Given the description of an element on the screen output the (x, y) to click on. 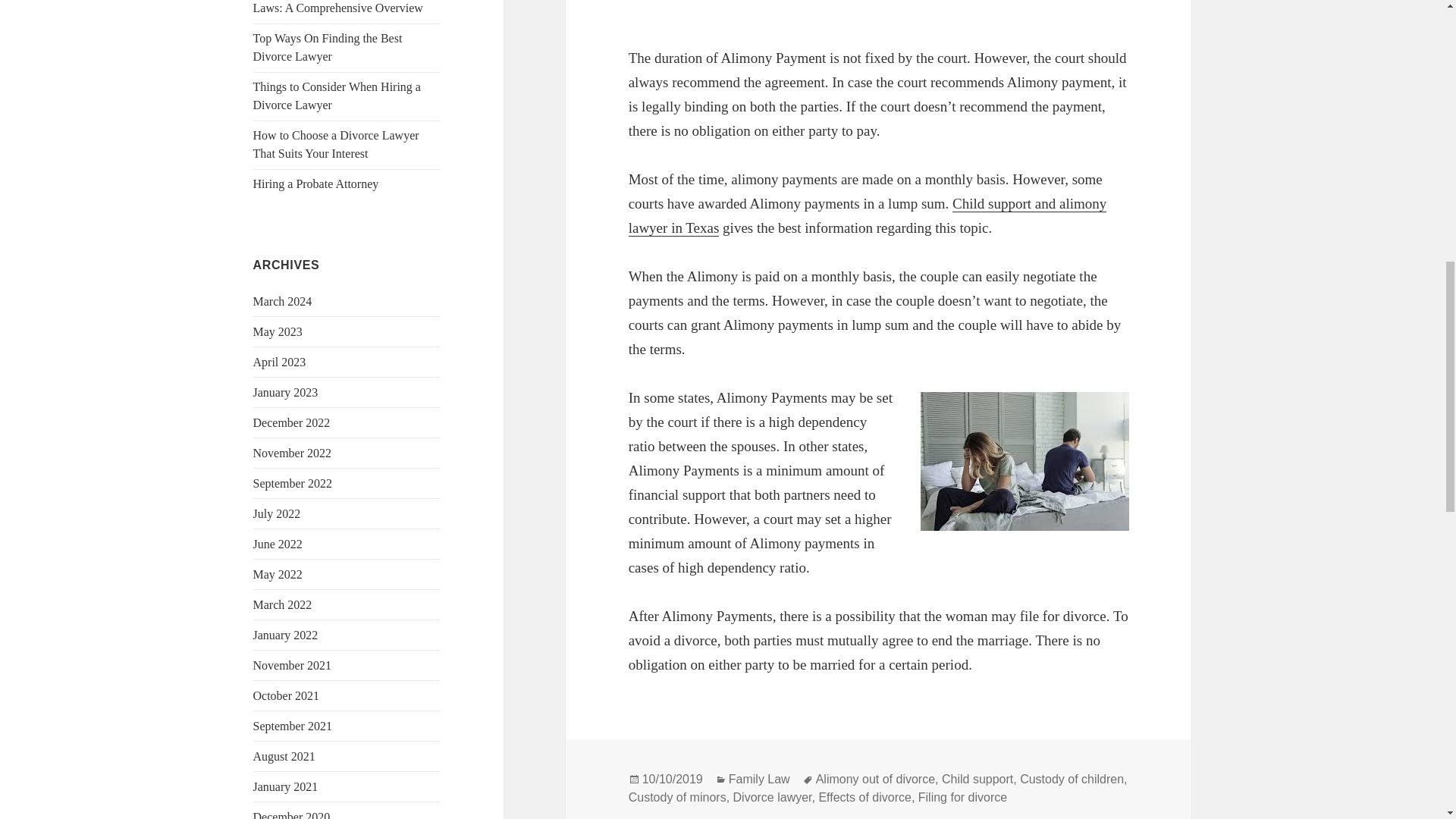
January 2021 (285, 786)
December 2020 (291, 814)
March 2022 (283, 604)
How to Choose a Divorce Lawyer That Suits Your Interest (336, 143)
November 2021 (292, 665)
Hiring a Probate Attorney (315, 183)
March 2024 (283, 300)
Things to Consider When Hiring a Divorce Lawyer (336, 95)
October 2021 (286, 695)
January 2023 (285, 391)
November 2022 (292, 452)
August 2021 (284, 756)
May 2022 (277, 574)
December 2022 (291, 422)
